Given the description of an element on the screen output the (x, y) to click on. 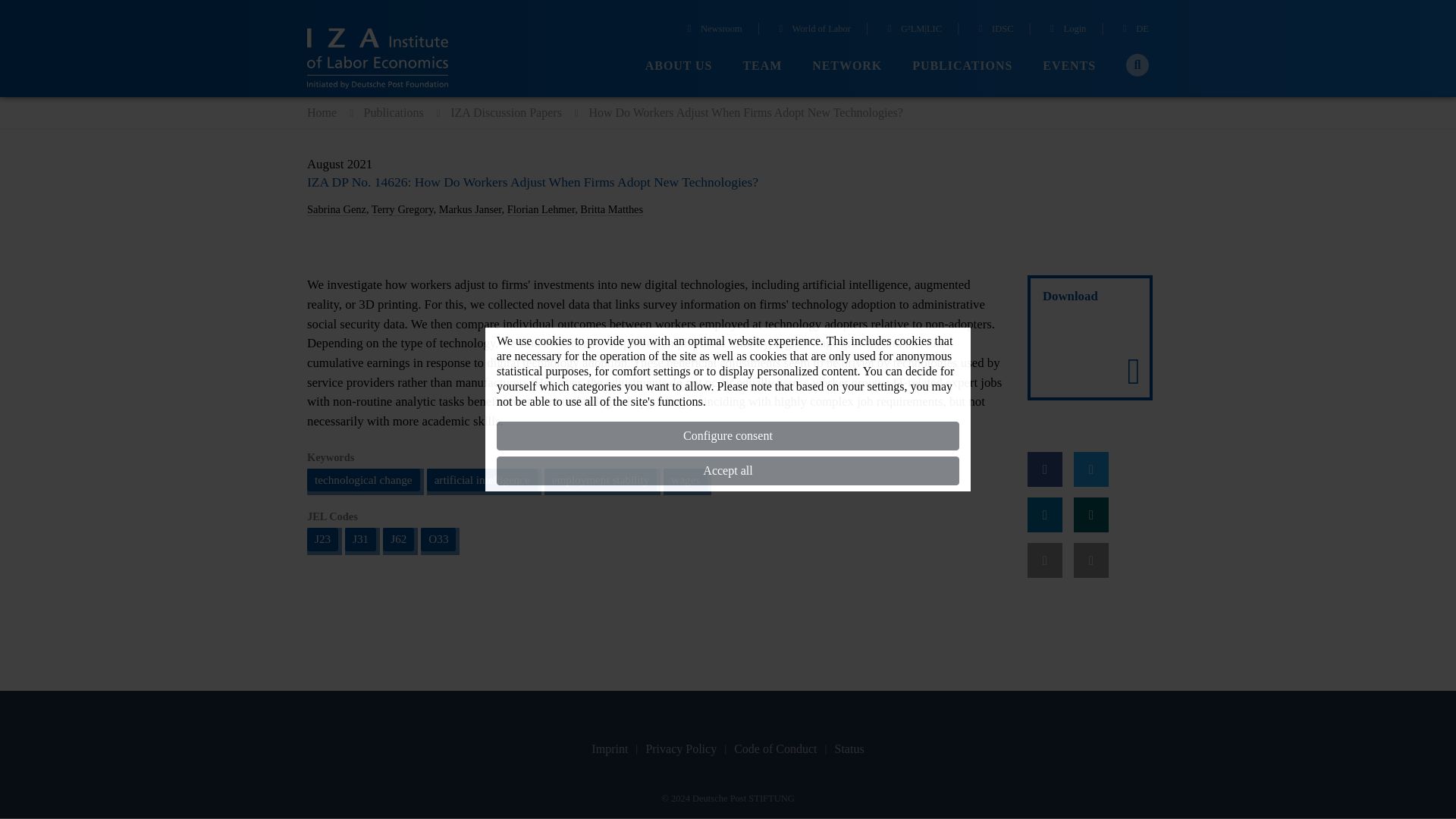
EVENTS (1069, 66)
PUBLICATIONS (961, 66)
ABOUT US (679, 66)
IDSC (993, 30)
TEAM (761, 66)
NETWORK (847, 66)
Newsroom (712, 30)
DE (1133, 30)
Login (1066, 30)
World of Labor (812, 30)
